Given the description of an element on the screen output the (x, y) to click on. 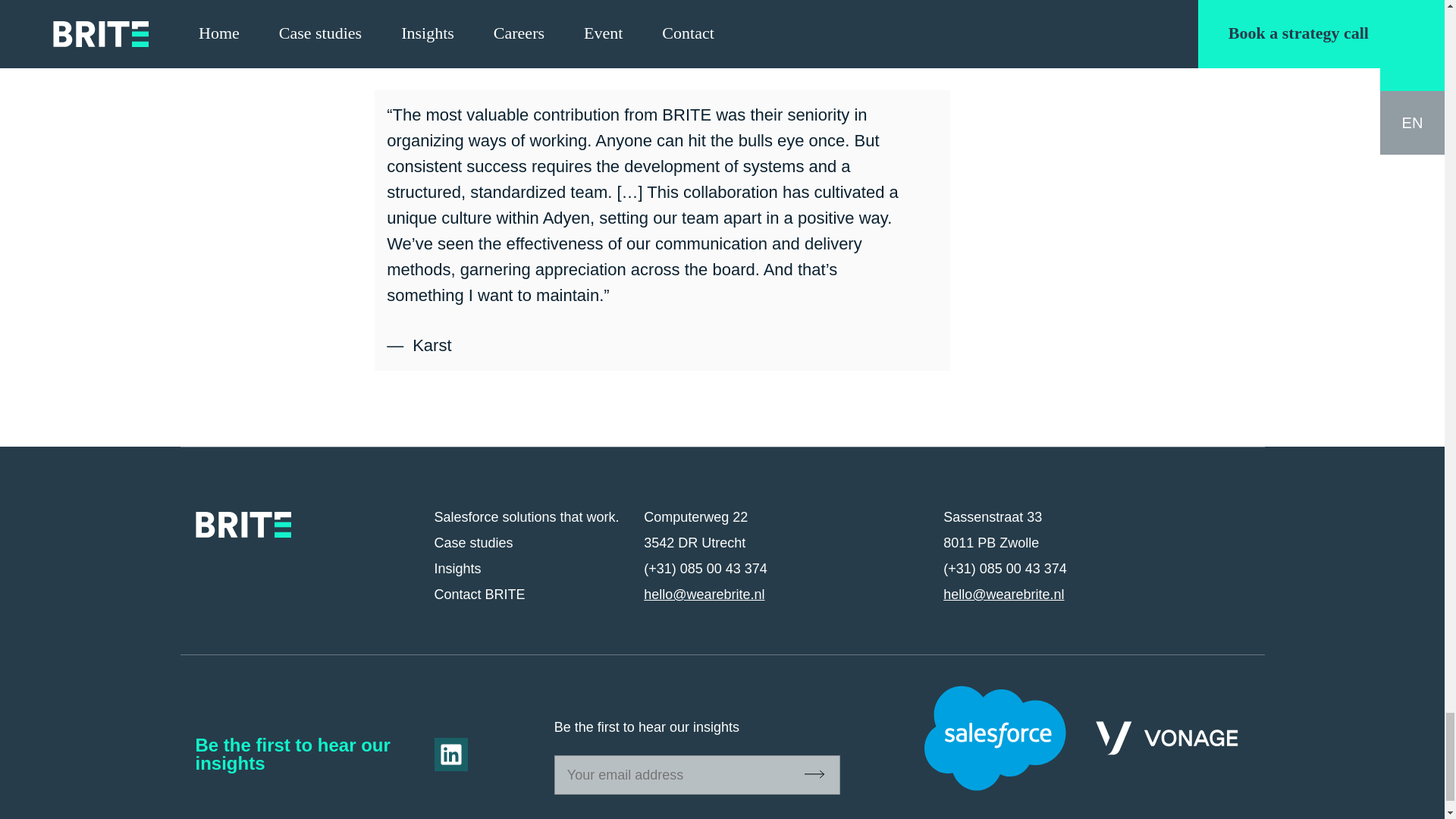
Contact BRITE (478, 594)
Insights (456, 568)
Case studies (472, 542)
LinkedIn (450, 754)
Salesforce solutions that work. (525, 516)
